Given the description of an element on the screen output the (x, y) to click on. 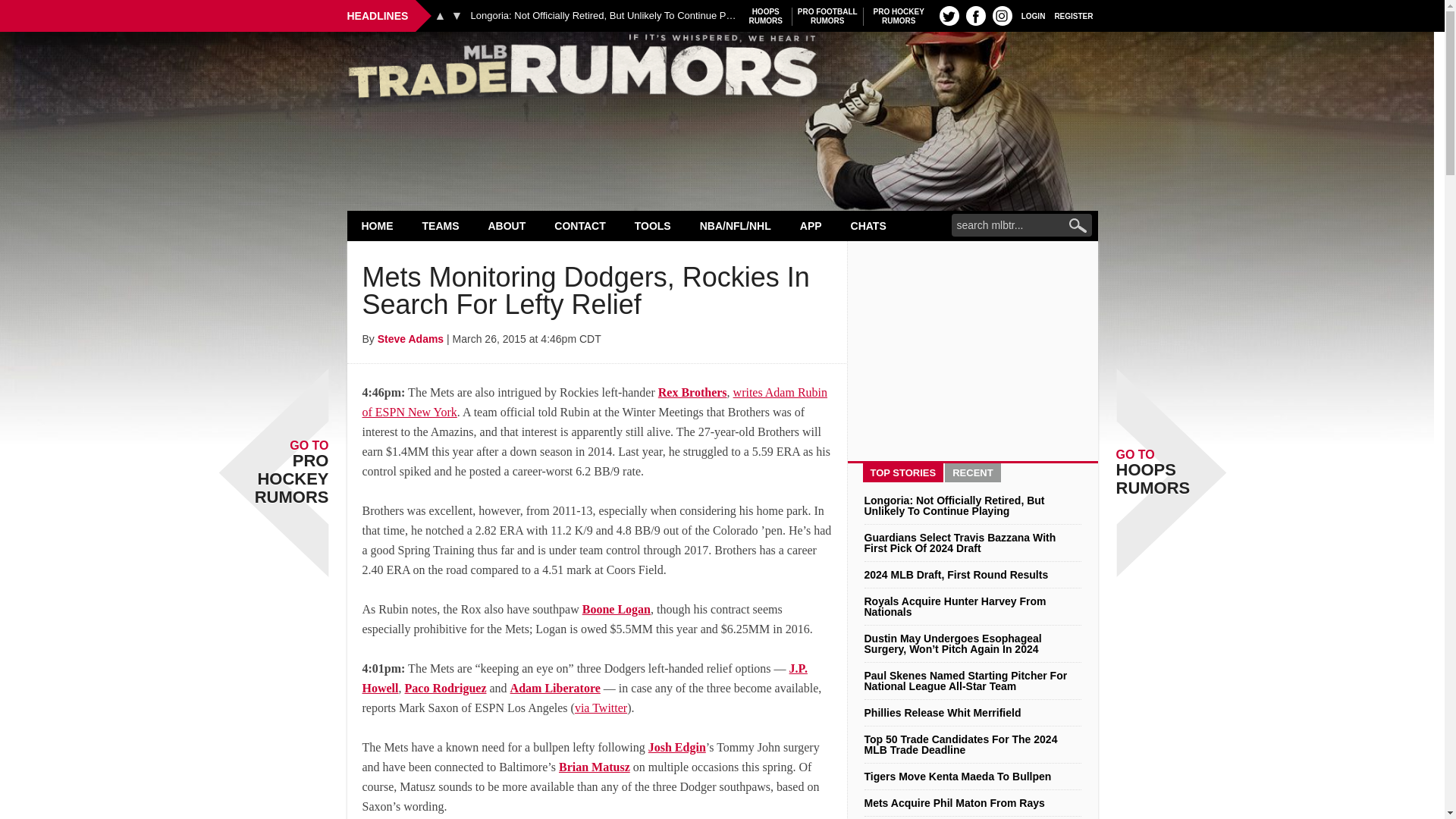
LOGIN (898, 16)
Previous (1032, 15)
Next (439, 15)
HOME (456, 15)
MLB Trade Rumors (377, 225)
Twitter profile (765, 16)
TEAMS (722, 69)
Instagram profile (949, 15)
FB profile (440, 225)
REGISTER (1001, 15)
Search (975, 15)
